Given the description of an element on the screen output the (x, y) to click on. 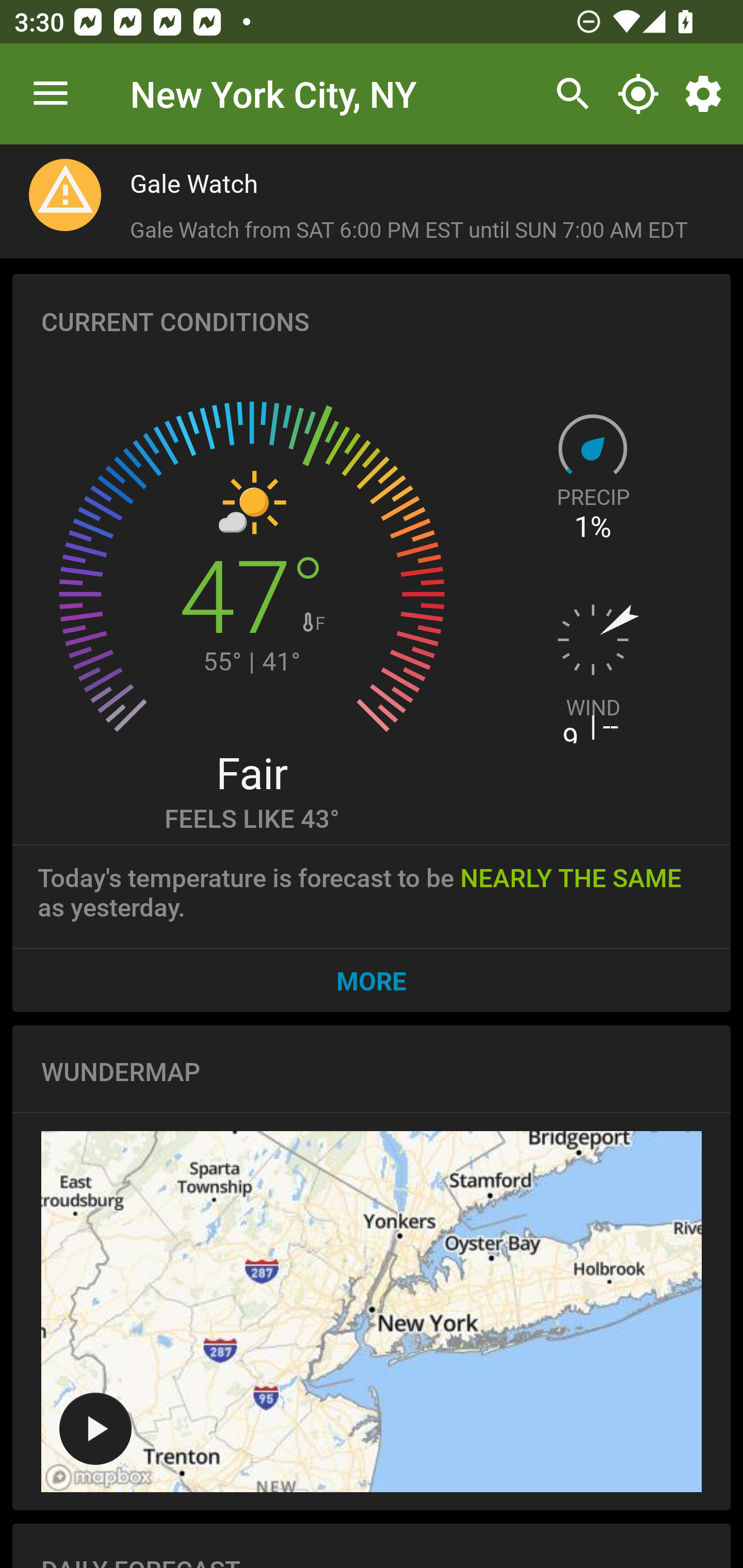
Press to open location manager. (50, 93)
Search for location (567, 94)
Select GPS location (637, 94)
Settings (706, 94)
New York City, NY (273, 92)
1% (592, 526)
Fair (251, 772)
MORE (371, 979)
Weather Map (371, 1311)
Weather Map (95, 1428)
